Given the description of an element on the screen output the (x, y) to click on. 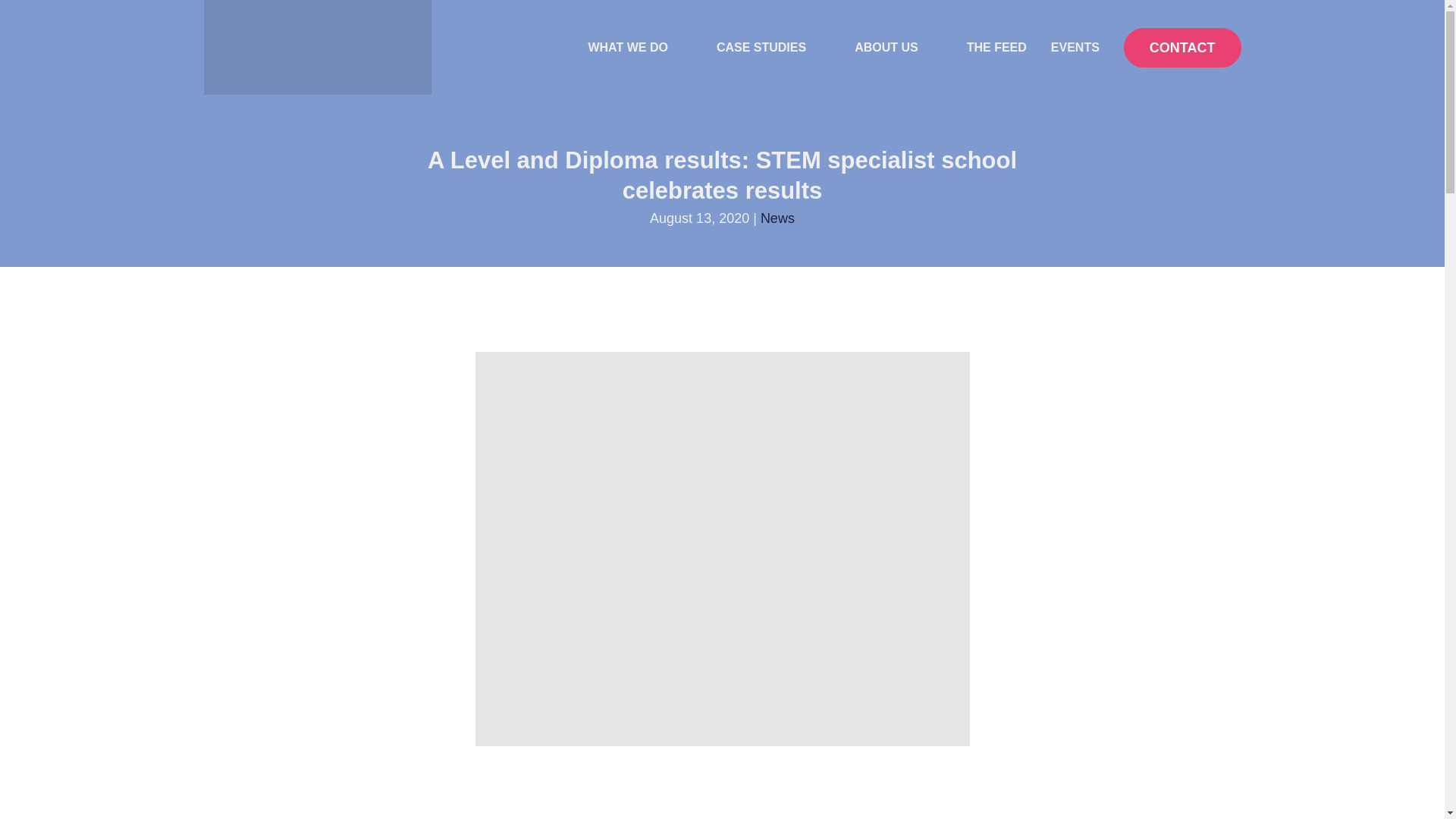
WHAT WE DO (639, 47)
News (777, 218)
ABOUT US (899, 47)
CASE STUDIES (773, 47)
THE FEED (997, 47)
EVENTS (1075, 47)
CONTACT (1182, 47)
